Given the description of an element on the screen output the (x, y) to click on. 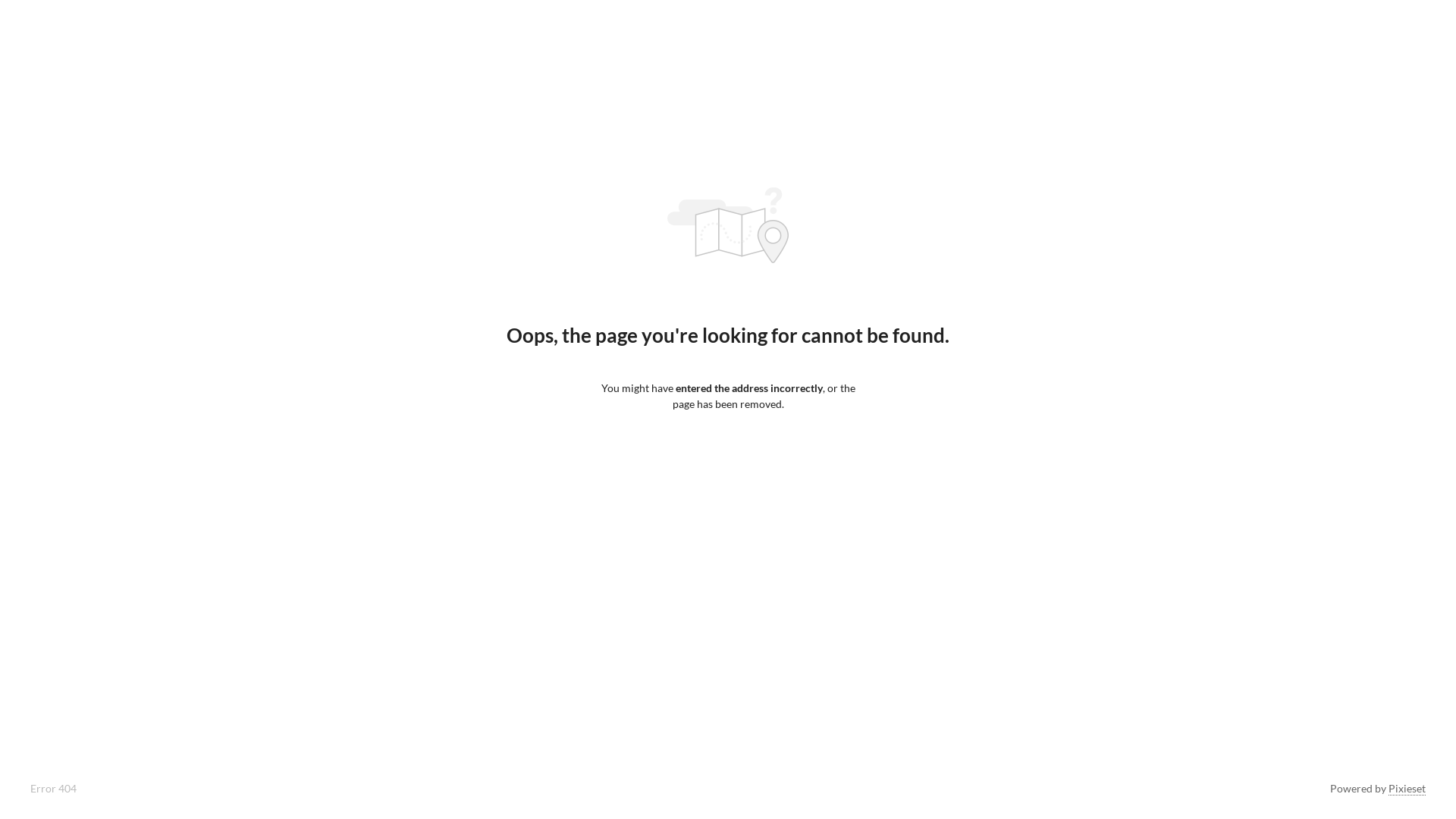
Pixieset Element type: text (1406, 788)
